Given the description of an element on the screen output the (x, y) to click on. 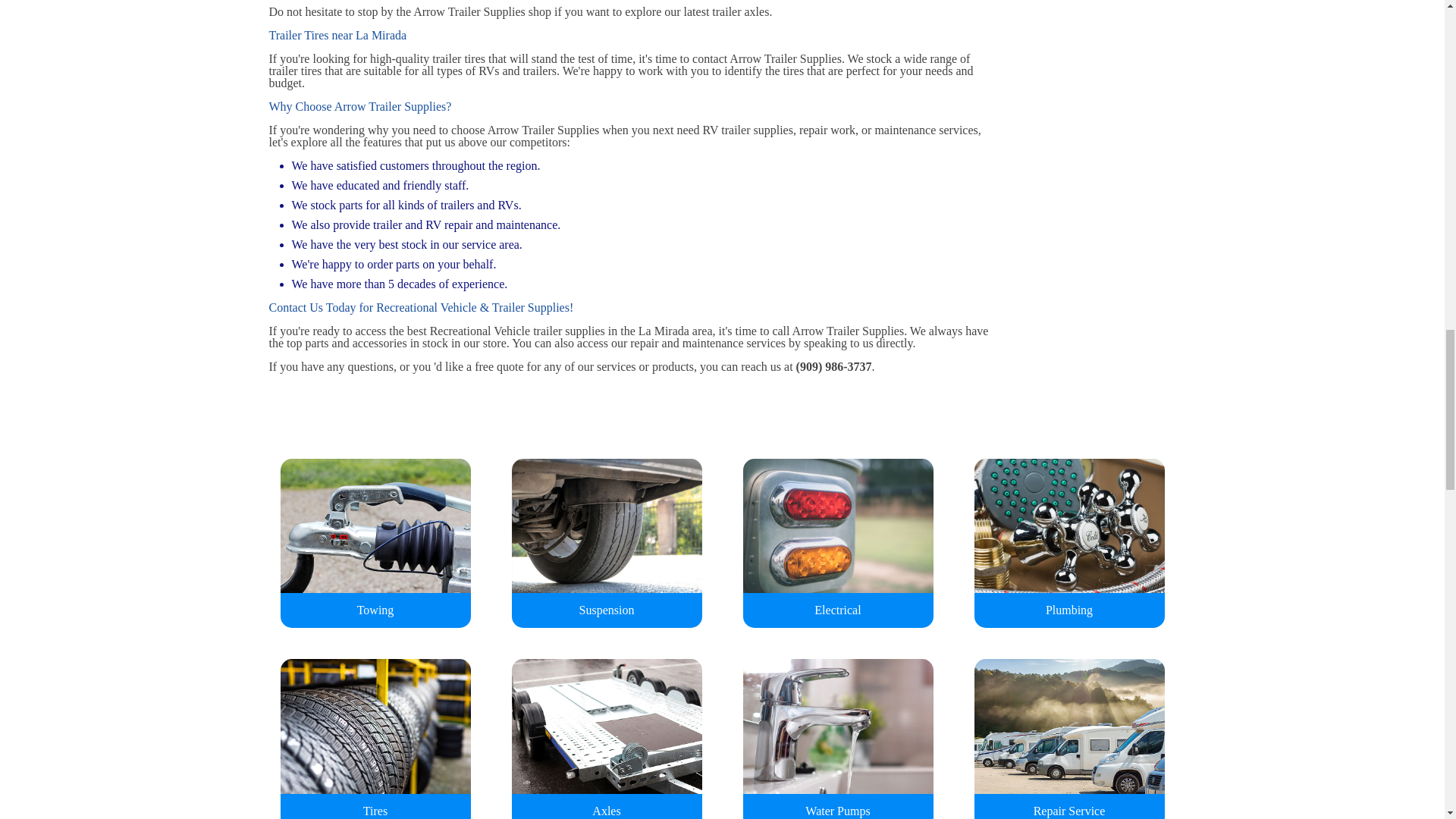
Water Pumps (837, 733)
Repair Service (1068, 733)
Plumbing (1068, 537)
Suspension (606, 537)
Tires (375, 733)
Towing (375, 537)
Axles (606, 733)
Electrical (837, 537)
